Given the description of an element on the screen output the (x, y) to click on. 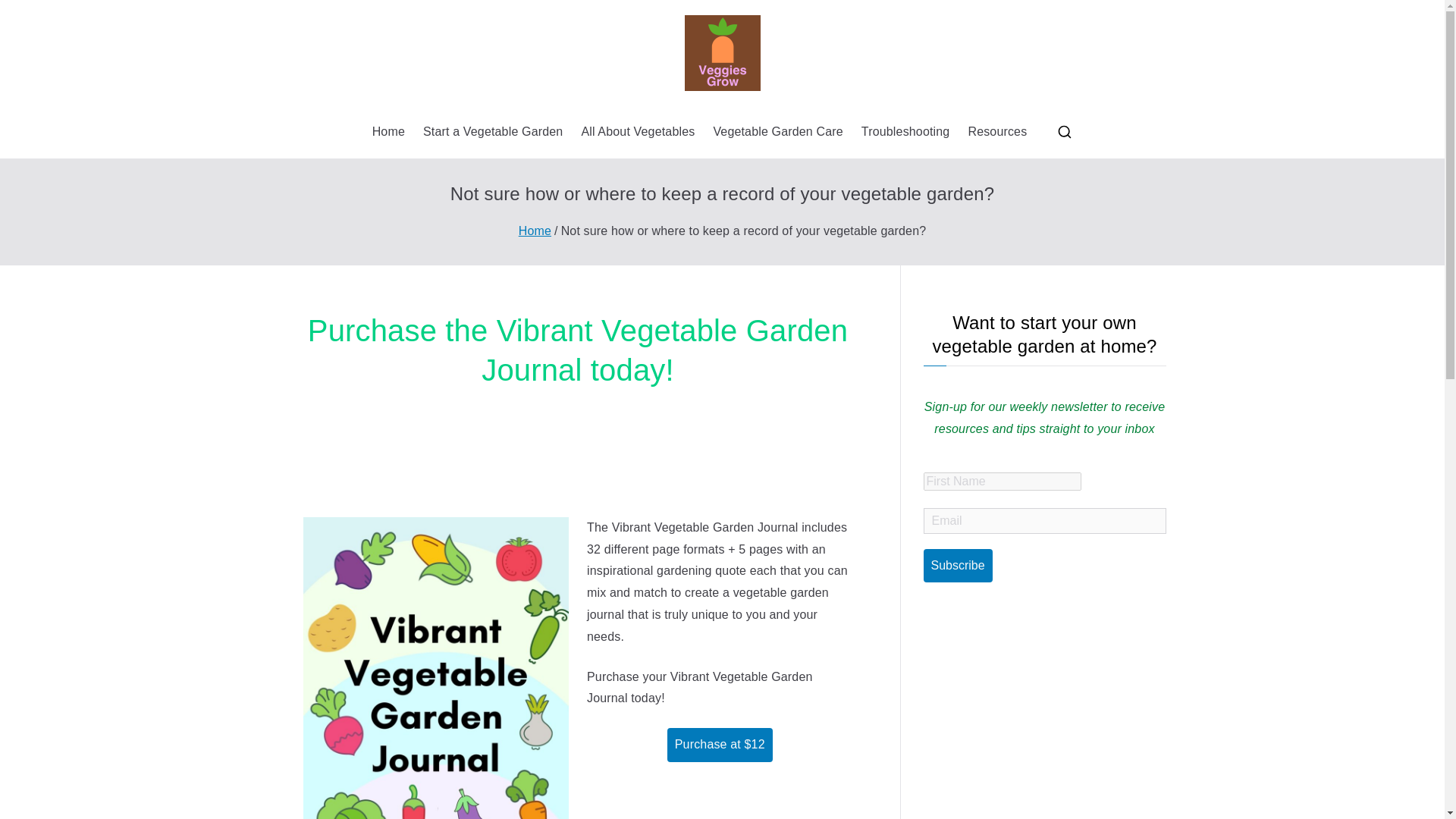
Start a Vegetable Garden (492, 132)
Subscribe (957, 565)
Search (26, 12)
Vegetable Garden Care (778, 132)
Troubleshooting (905, 132)
Home (534, 230)
All About Vegetables (637, 132)
Home (388, 132)
Resources (997, 132)
Veggies Grow (822, 125)
